Given the description of an element on the screen output the (x, y) to click on. 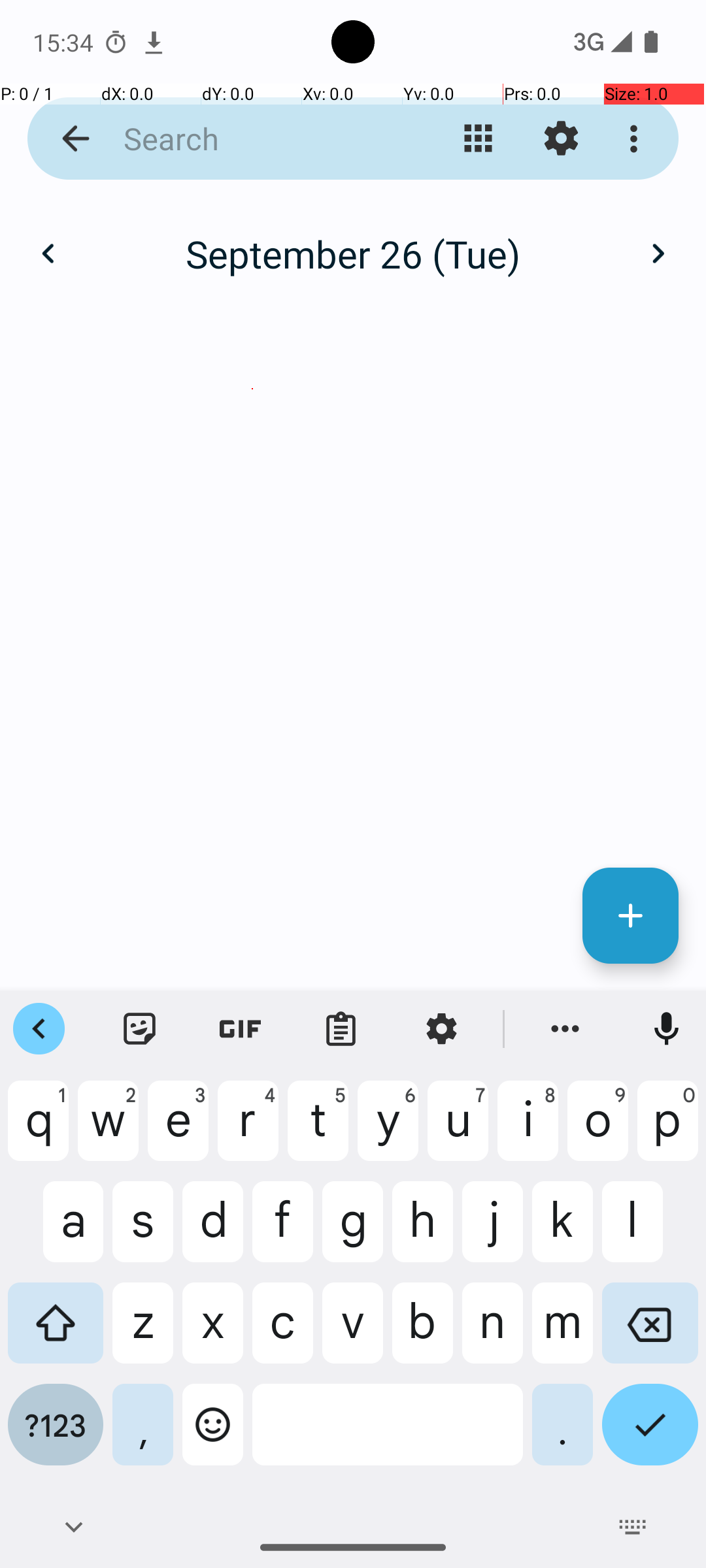
September 26 (Tue) Element type: android.widget.TextView (352, 253)
